Given the description of an element on the screen output the (x, y) to click on. 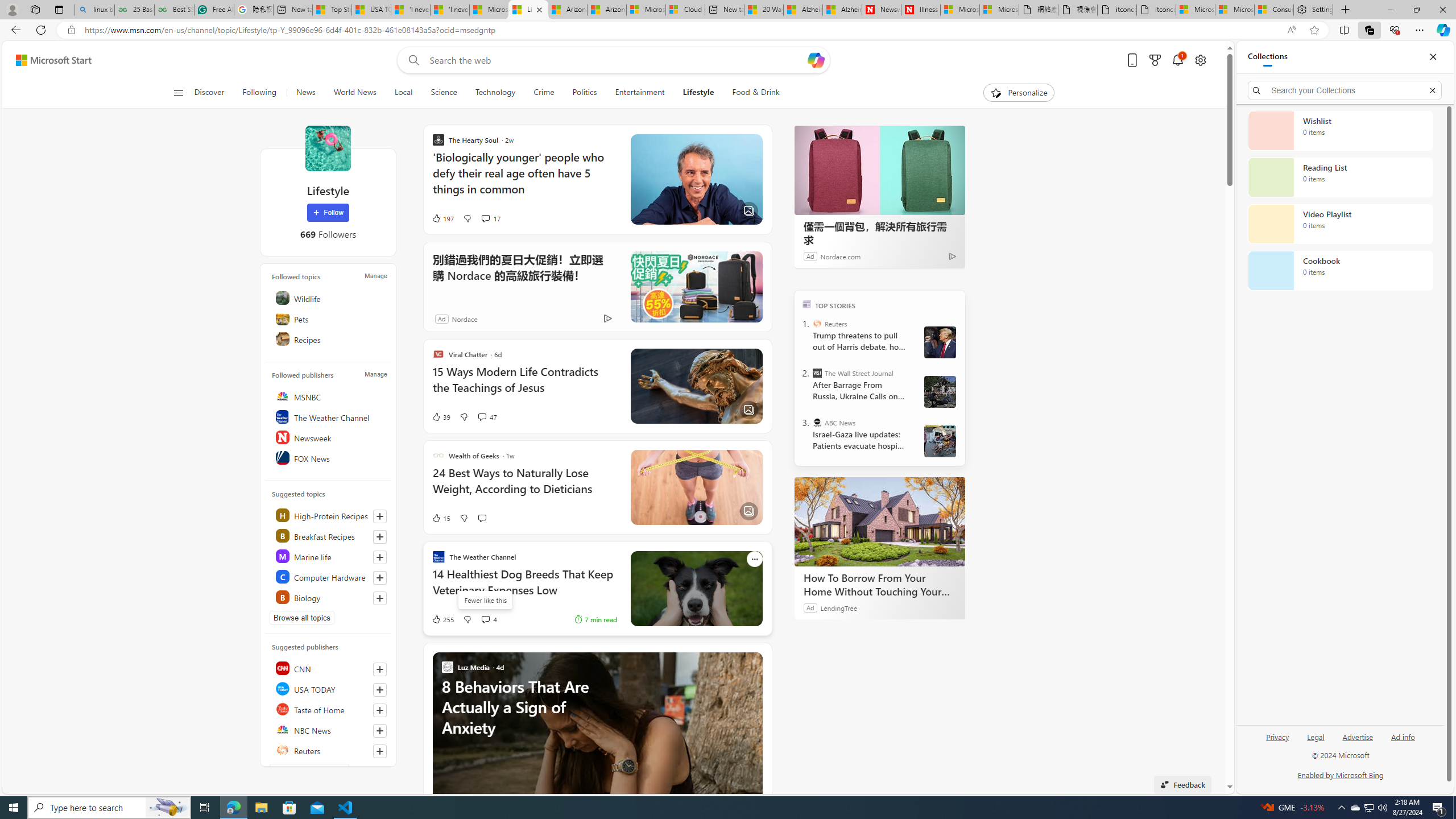
Reuters (328, 750)
255 Like (442, 619)
197 Like (442, 218)
Browse all topics (301, 617)
